Given the description of an element on the screen output the (x, y) to click on. 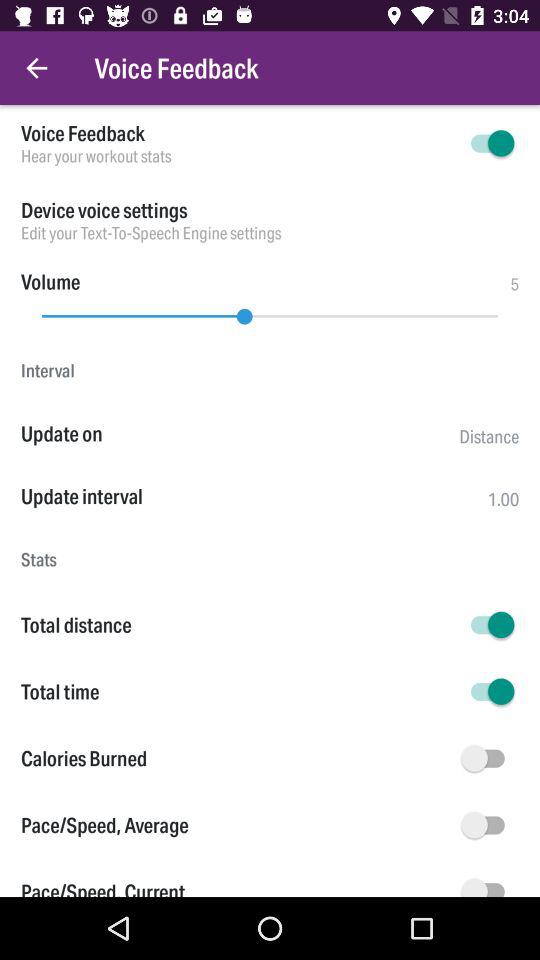
jump until the volume item (50, 281)
